Given the description of an element on the screen output the (x, y) to click on. 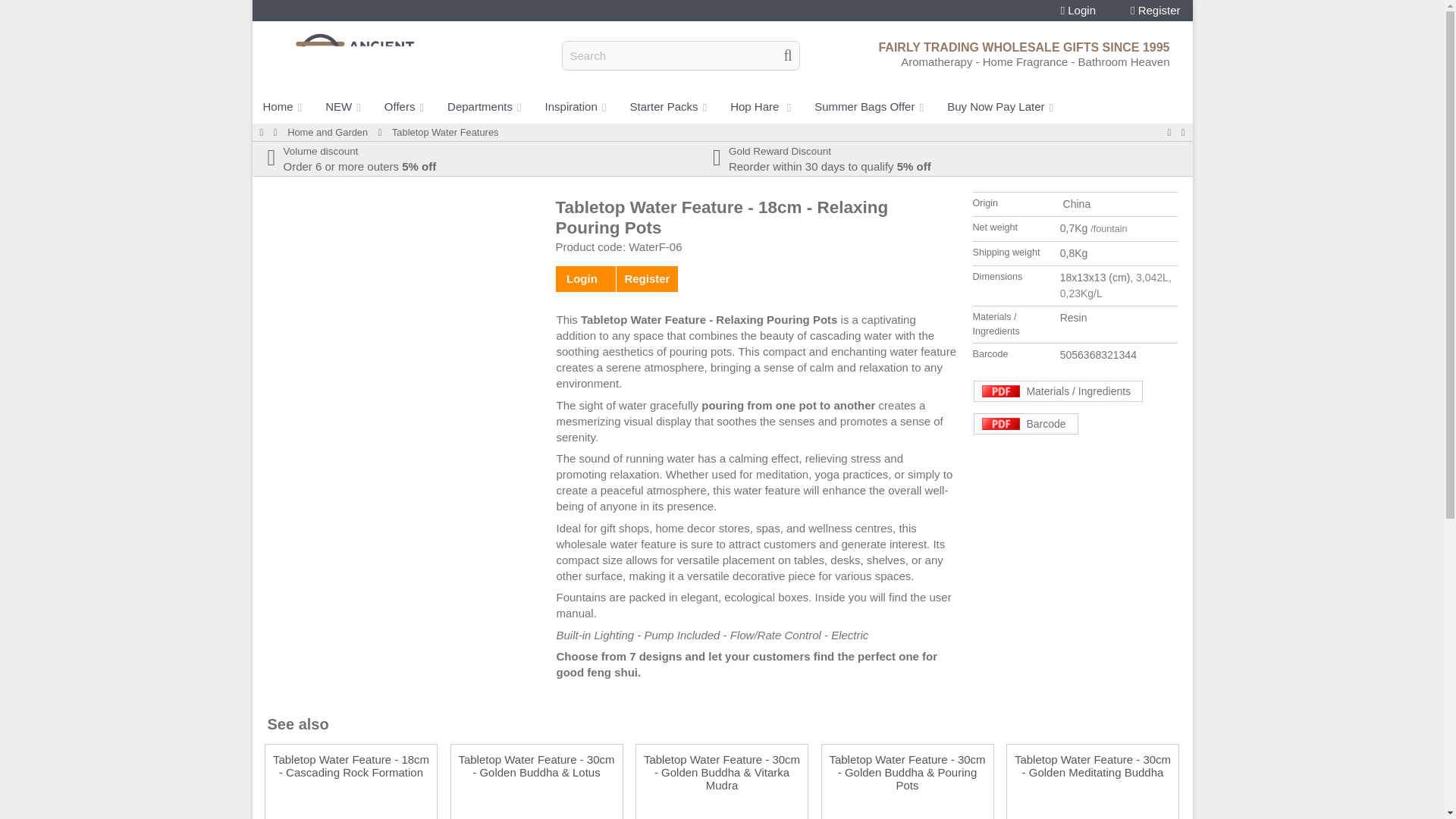
Inspiration (577, 106)
NEW (344, 106)
Hop Hare  (761, 106)
Offers (405, 106)
Starter Packs (668, 106)
Wholesale Home and Garden - Ancient Wisdom Giftware Supplier (327, 132)
Login (1078, 10)
Register (1155, 10)
Home (282, 106)
Buy Now Pay Later (1000, 106)
Home (261, 132)
Summer Bags Offer (869, 106)
